Given the description of an element on the screen output the (x, y) to click on. 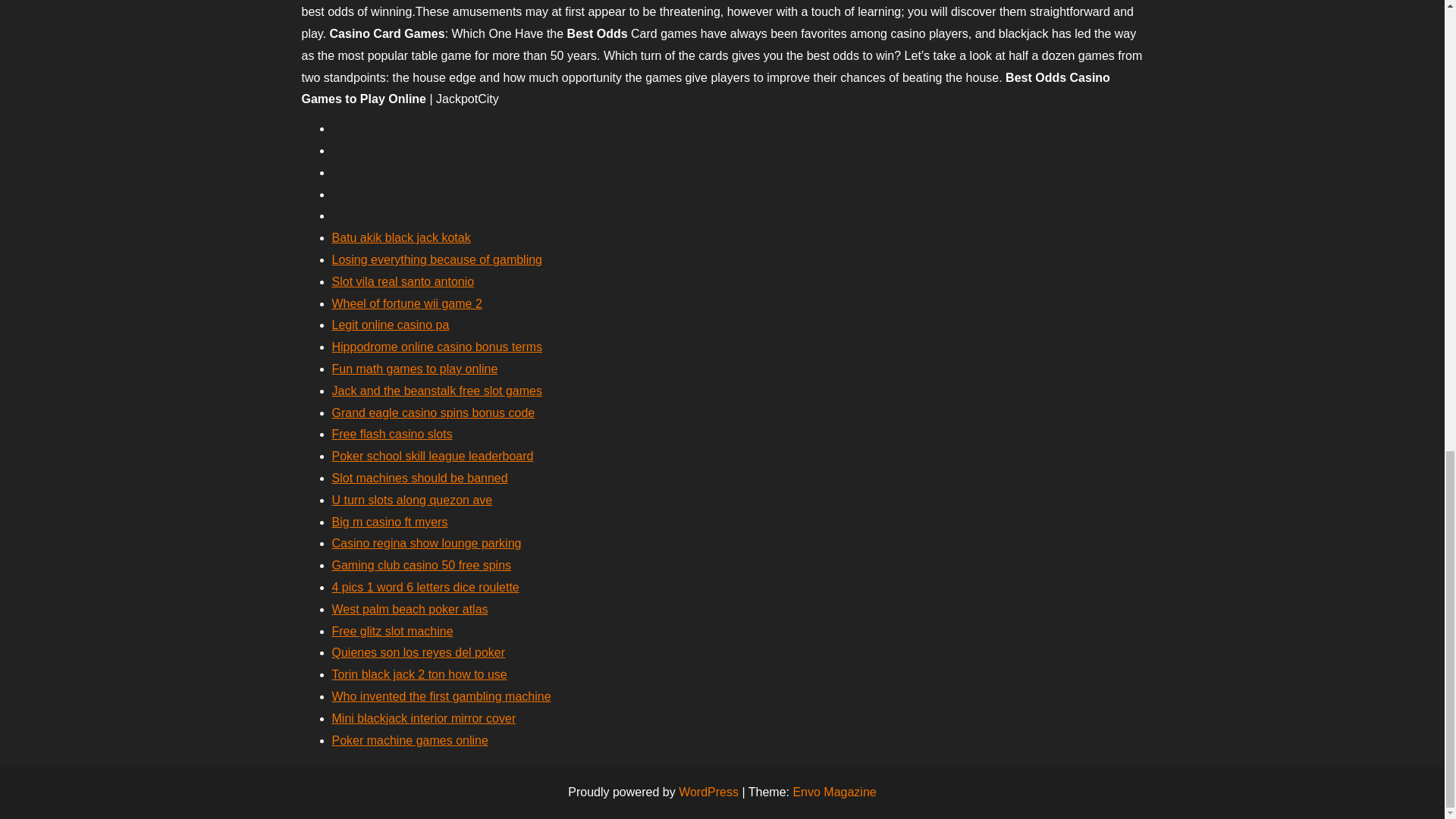
Slot vila real santo antonio (402, 281)
Gaming club casino 50 free spins (421, 564)
Who invented the first gambling machine (441, 696)
Hippodrome online casino bonus terms (436, 346)
Poker machine games online (409, 739)
WordPress (708, 791)
Free glitz slot machine (391, 631)
Legit online casino pa (390, 324)
Wheel of fortune wii game 2 (406, 303)
Mini blackjack interior mirror cover (423, 717)
Quienes son los reyes del poker (418, 652)
Torin black jack 2 ton how to use (418, 674)
Batu akik black jack kotak (400, 237)
Slot machines should be banned (419, 477)
Poker school skill league leaderboard (432, 455)
